Given the description of an element on the screen output the (x, y) to click on. 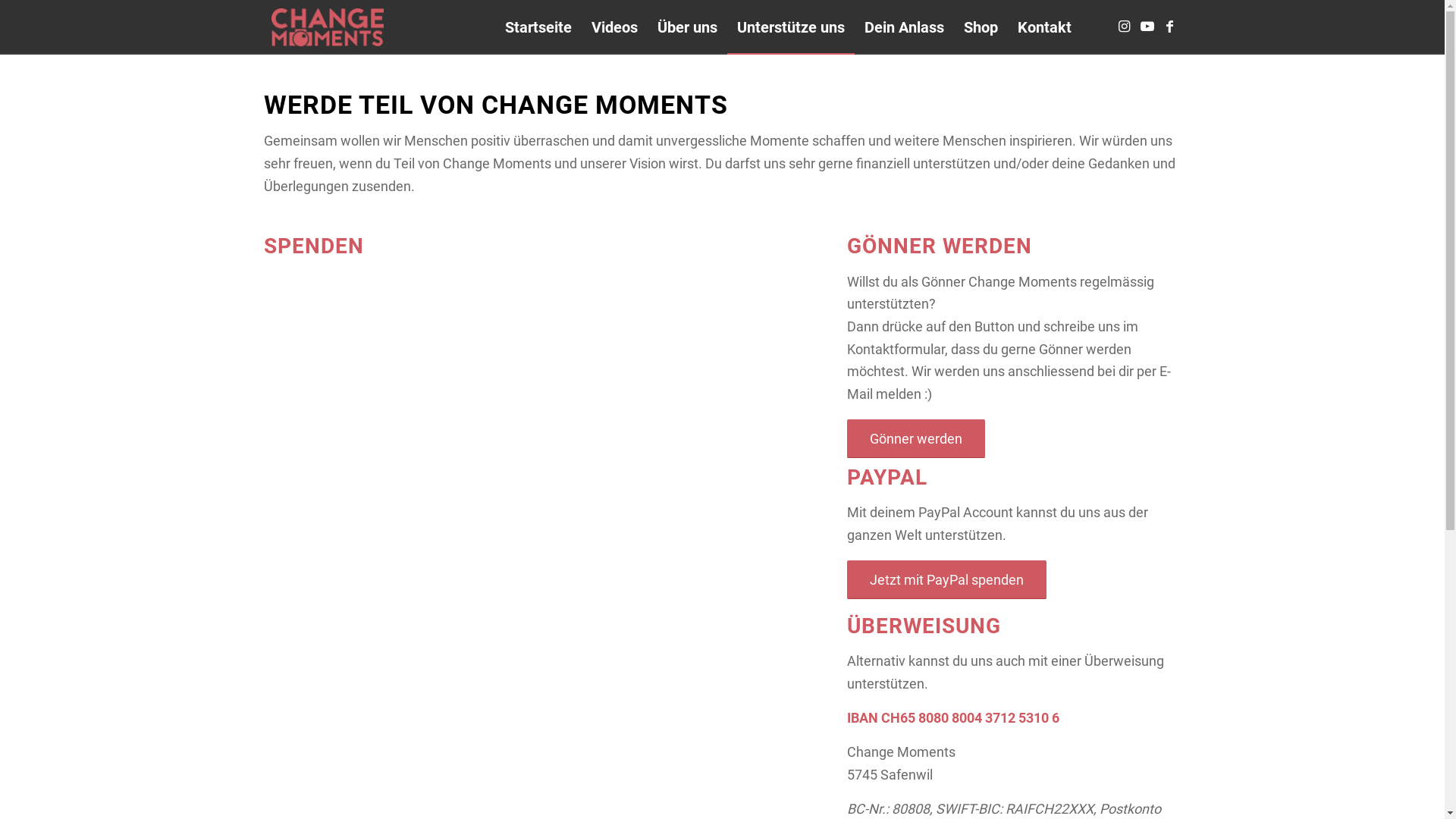
Shop Element type: text (980, 26)
Facebook Element type: hover (1169, 26)
Kontakt Element type: text (1043, 26)
Jetzt mit PayPal spenden Element type: text (946, 579)
Dein Anlass Element type: text (903, 26)
Youtube Element type: hover (1146, 26)
Instagram Element type: hover (1124, 26)
Videos Element type: text (613, 26)
Startseite Element type: text (537, 26)
